Given the description of an element on the screen output the (x, y) to click on. 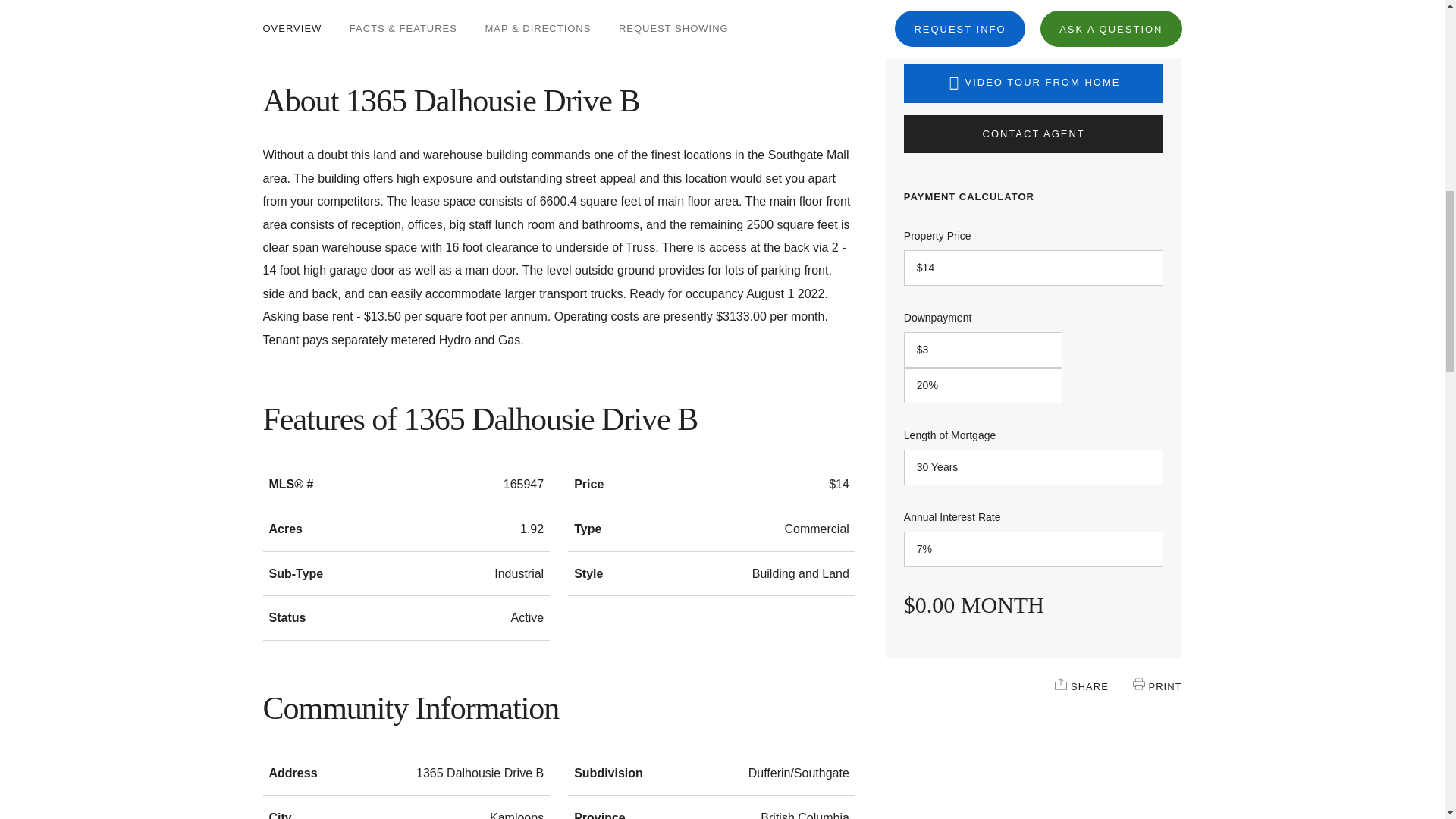
MOBILE ICON (953, 83)
PRINT (1138, 684)
SHARE (1060, 684)
30 Years (1033, 467)
